Given the description of an element on the screen output the (x, y) to click on. 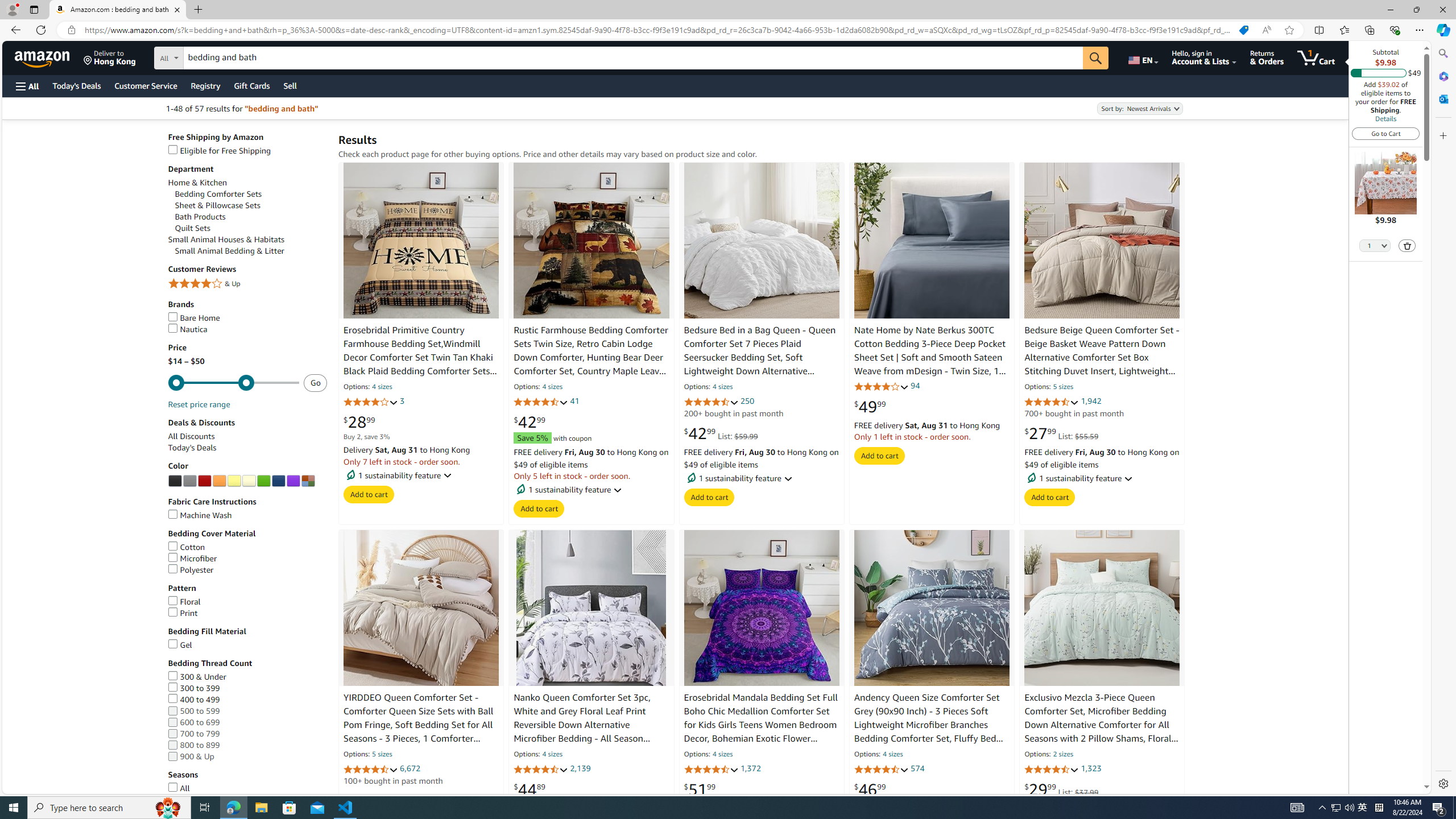
Bare Home (247, 317)
Bare Home (193, 317)
4 Stars & Up (247, 283)
Shopping in Microsoft Edge (1243, 29)
AutomationID: p_n_feature_twenty_browse-bin/3254113011 (307, 481)
3 (402, 401)
Small Animal Bedding & Litter (228, 250)
Gel (179, 644)
Print (247, 613)
